Given the description of an element on the screen output the (x, y) to click on. 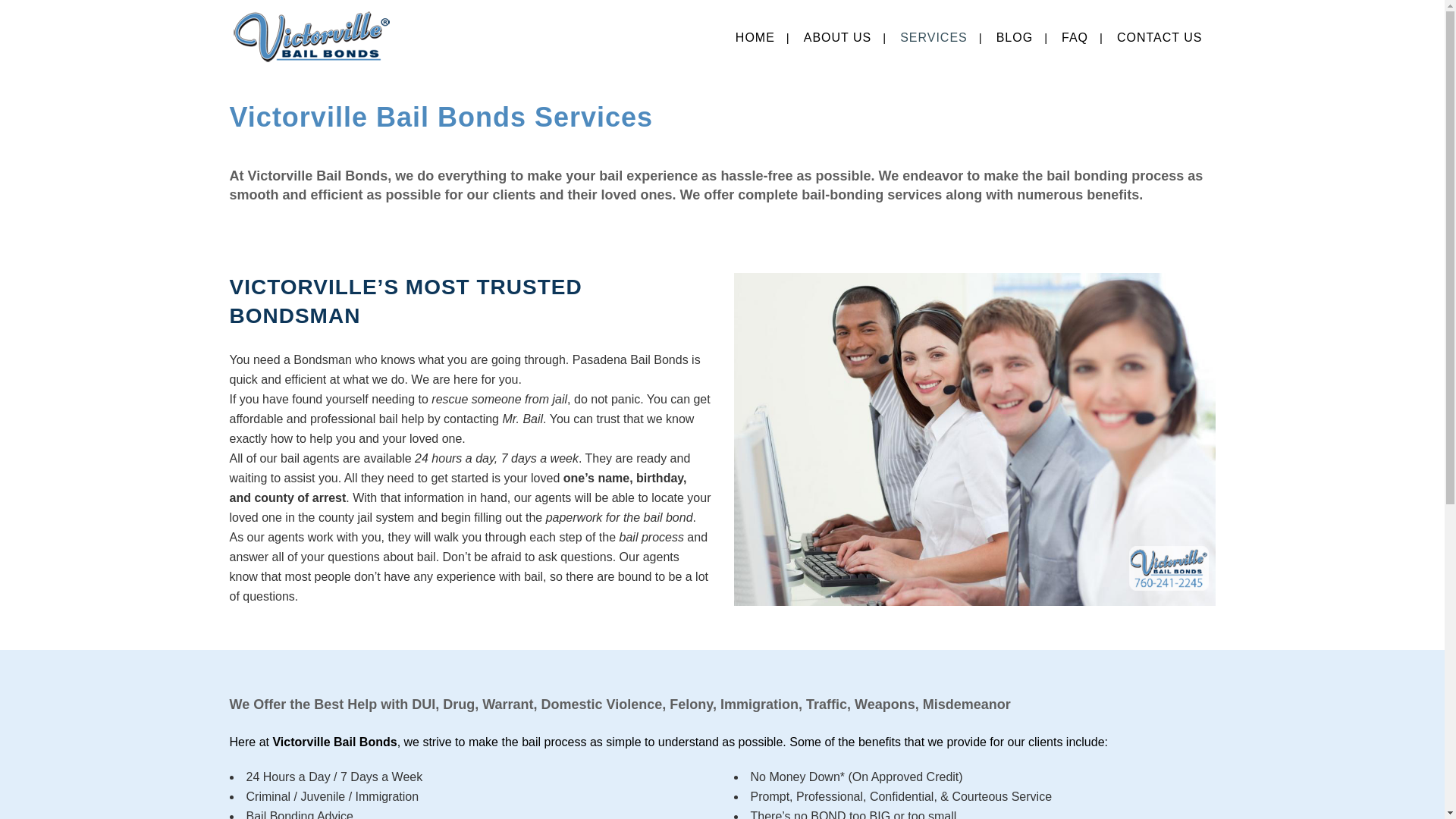
ABOUT US (837, 38)
SERVICES (932, 38)
CONTACT US (1159, 38)
